Given the description of an element on the screen output the (x, y) to click on. 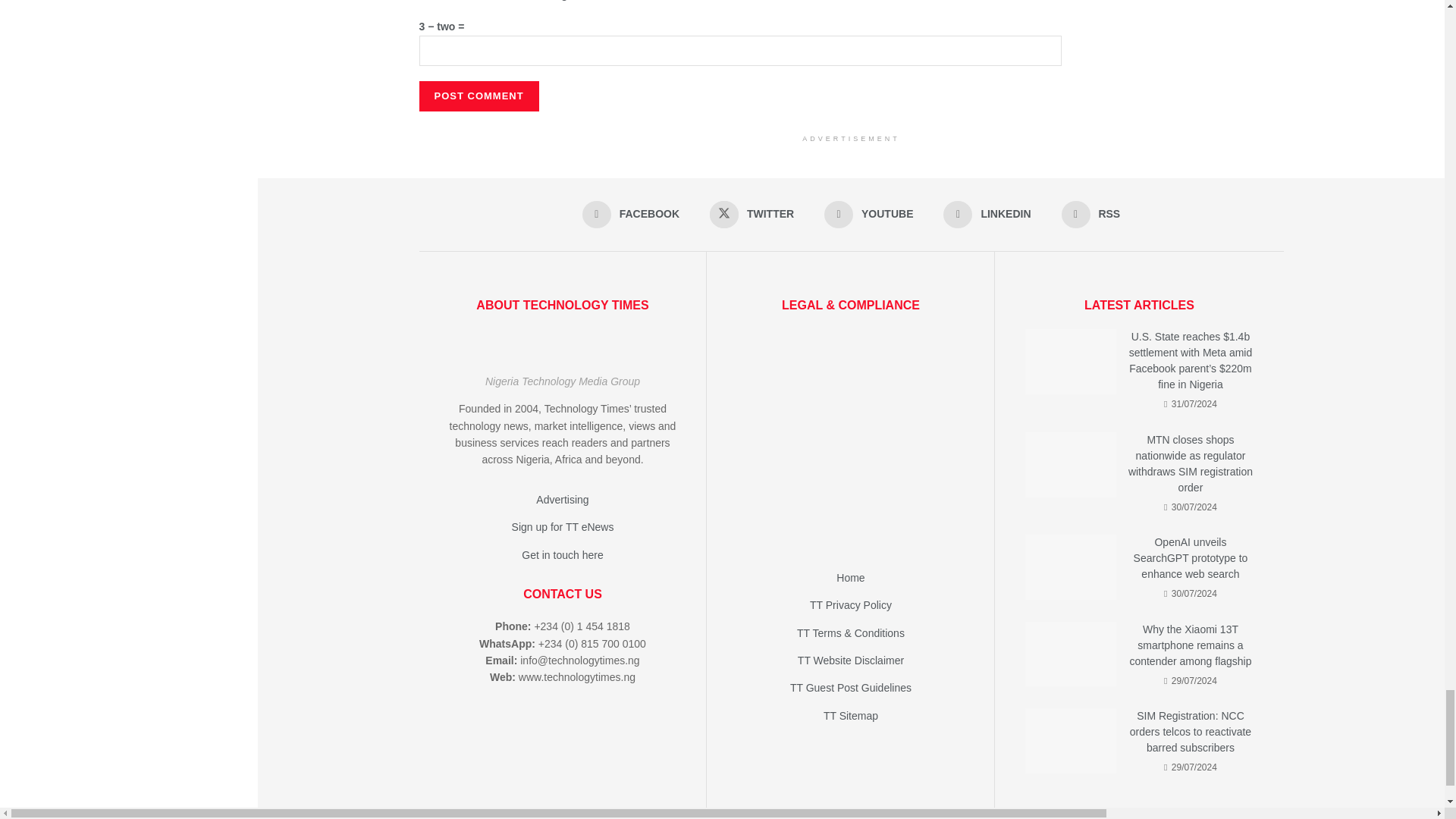
Post Comment (478, 95)
